Given the description of an element on the screen output the (x, y) to click on. 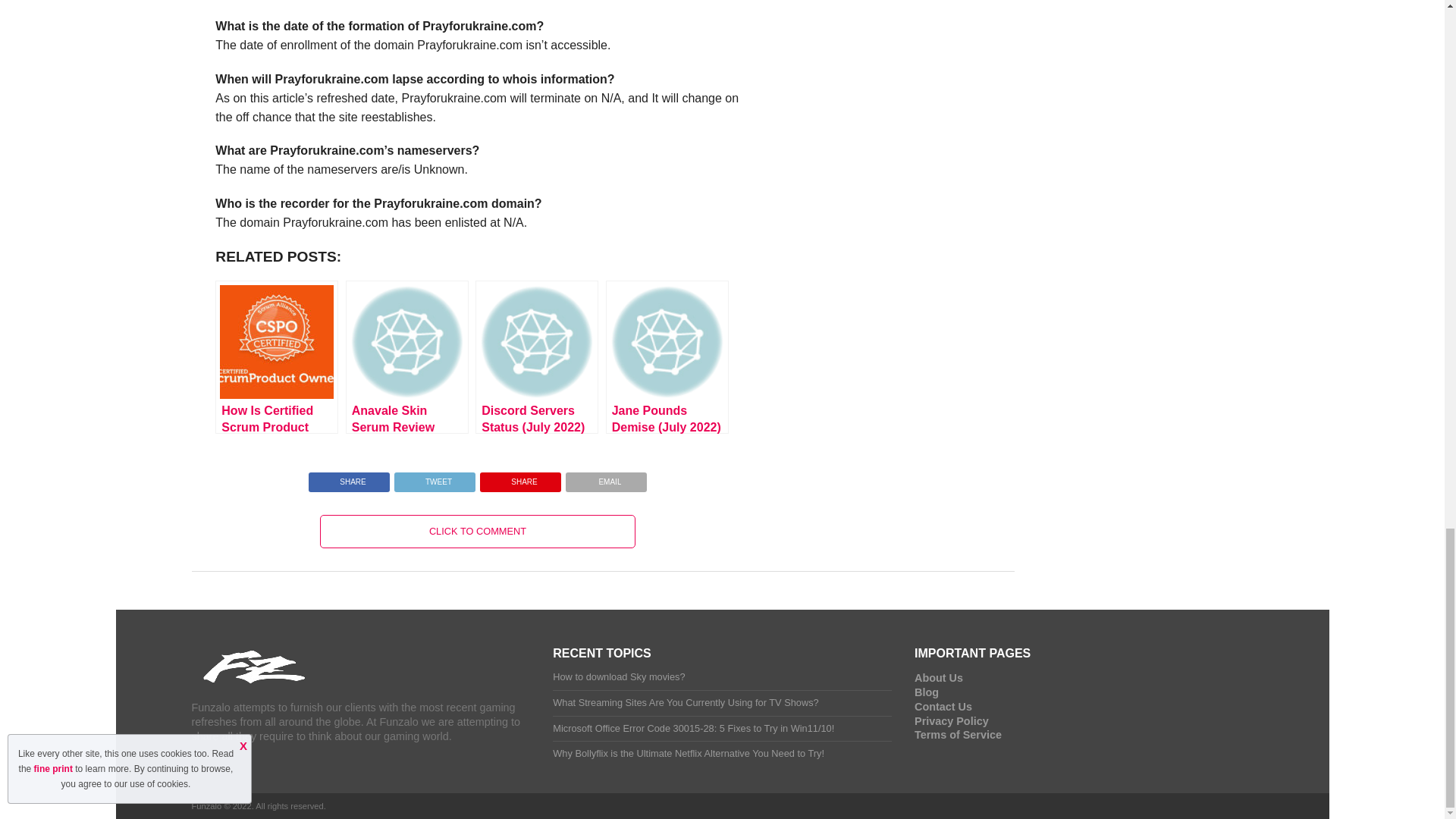
Tweet This Post (434, 477)
EMAIL (605, 477)
Share on Facebook (349, 477)
SHARE (349, 477)
TWEET (434, 477)
SHARE (520, 477)
Pin This Post (520, 477)
